Given the description of an element on the screen output the (x, y) to click on. 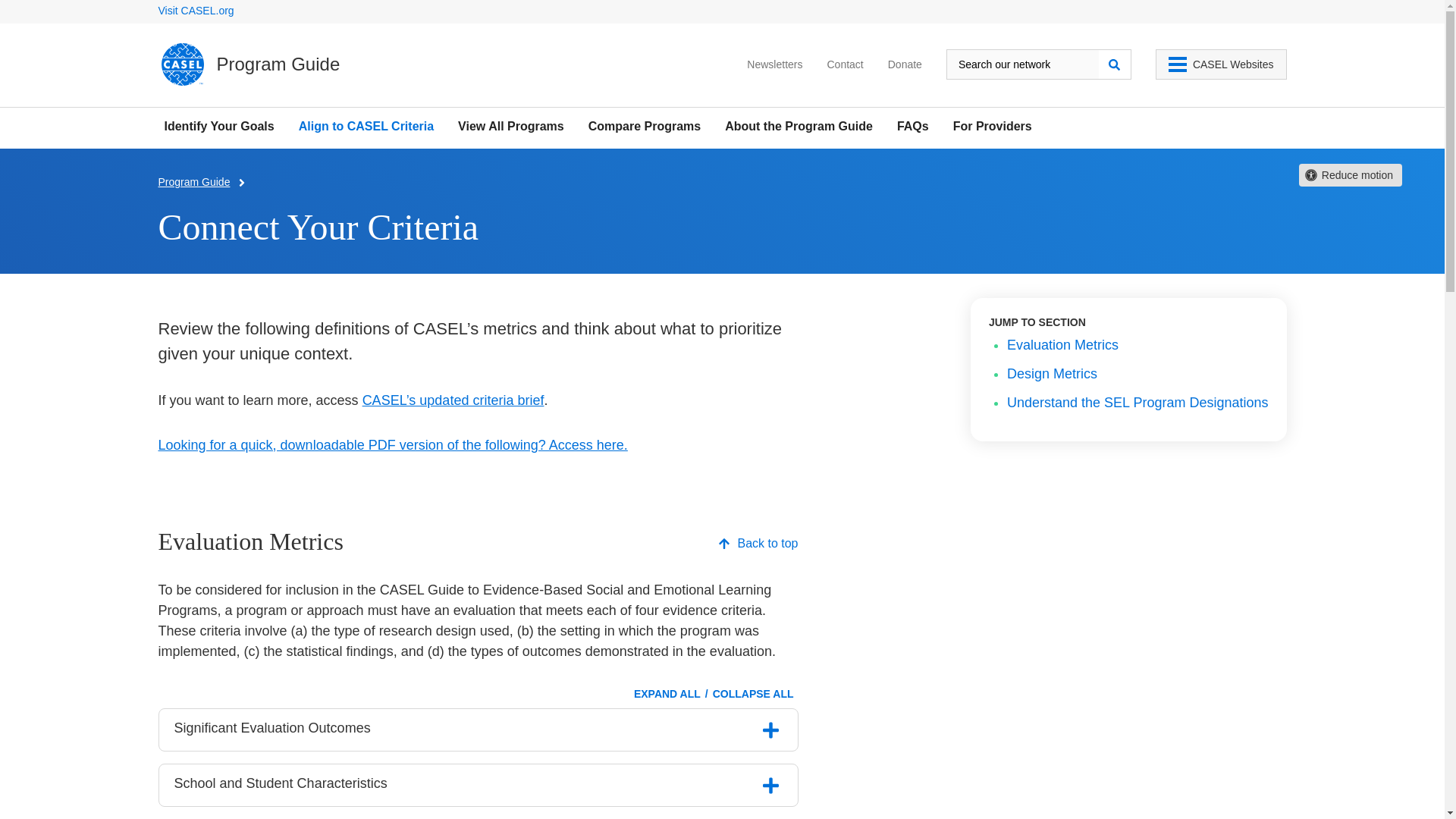
CASEL Program Guide (248, 64)
View All Programs (511, 125)
For Providers (992, 125)
on (771, 730)
Program Guide (193, 181)
on (771, 784)
EXPAND ALL (666, 693)
Visit CASEL.org (194, 10)
COLLAPSE ALL (752, 693)
Donate (904, 66)
